Given the description of an element on the screen output the (x, y) to click on. 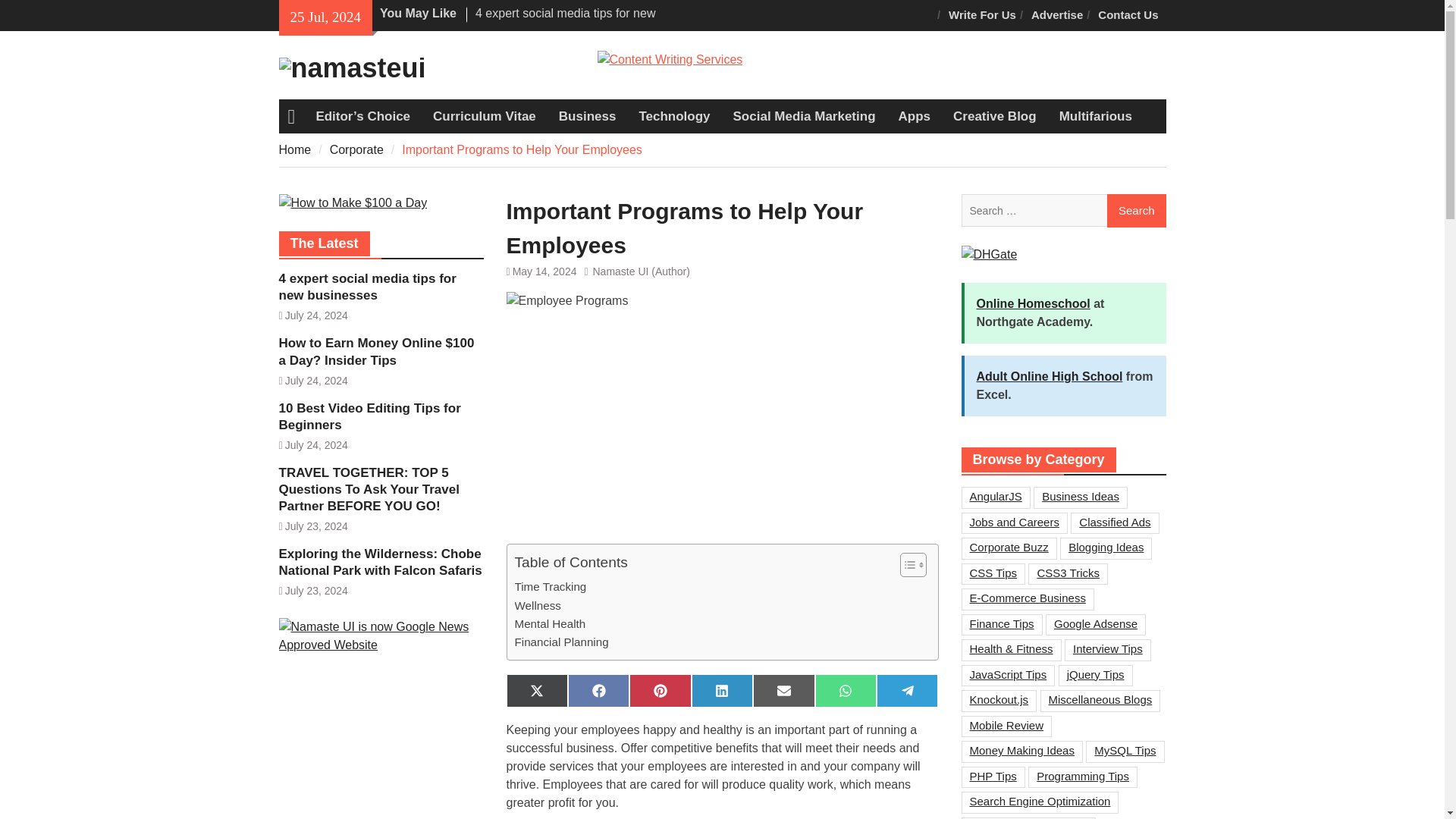
Social Media Marketing (804, 116)
Curriculum Vitae (484, 116)
Curriculum Vitae (484, 116)
Share on Email (782, 690)
Corporate (357, 149)
Home (295, 149)
Contact Us (1128, 15)
Wellness (536, 606)
Business (587, 116)
Time Tracking (549, 587)
Search (1136, 210)
Write For Us (981, 15)
Wellness (536, 606)
Share on LinkedIn (721, 690)
